Given the description of an element on the screen output the (x, y) to click on. 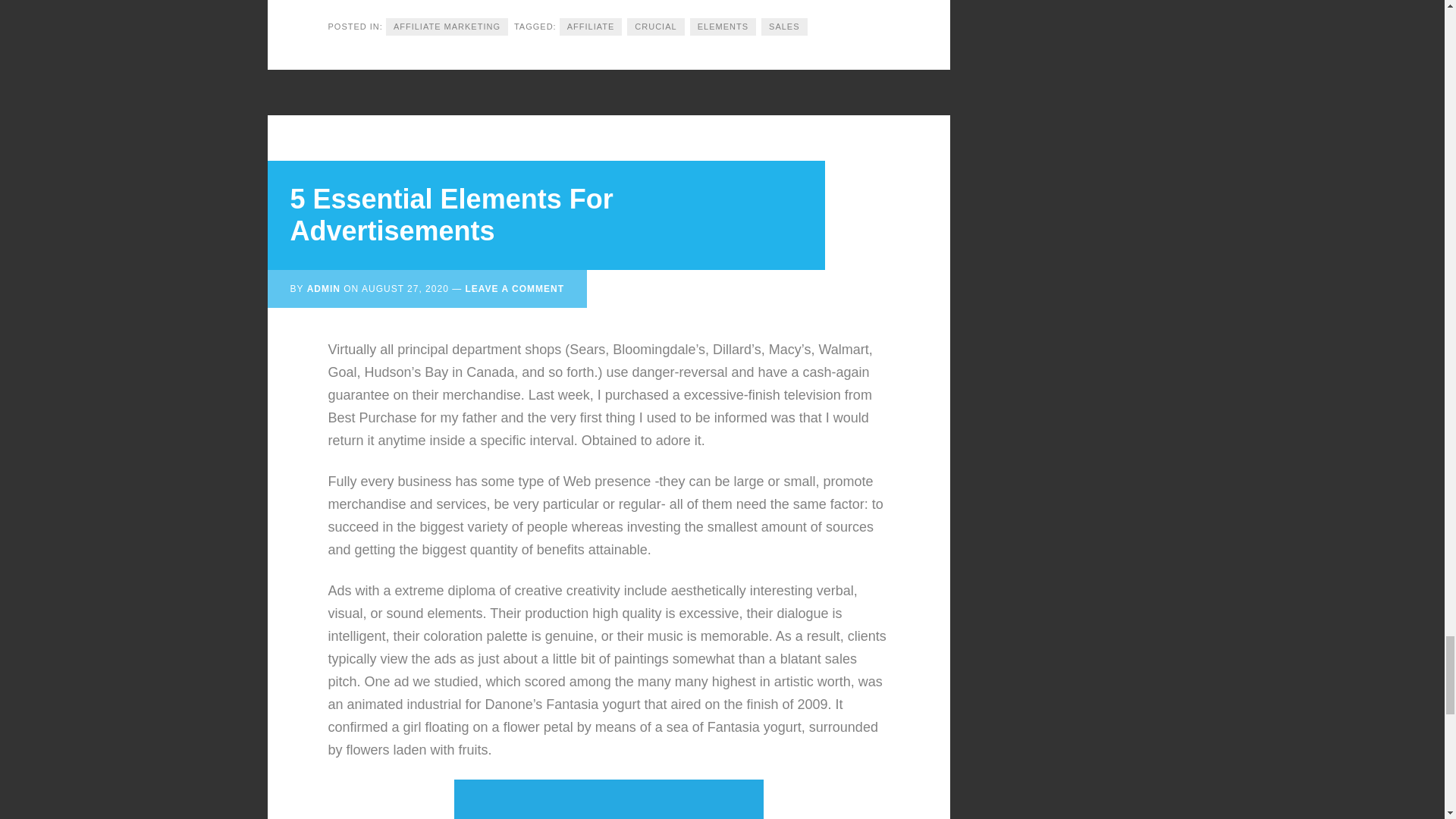
CRUCIAL (655, 27)
AFFILIATE MARKETING (446, 27)
5 Essential Elements For Advertisements (450, 214)
ELEMENTS (722, 27)
SALES (783, 27)
AFFILIATE (591, 27)
